Given the description of an element on the screen output the (x, y) to click on. 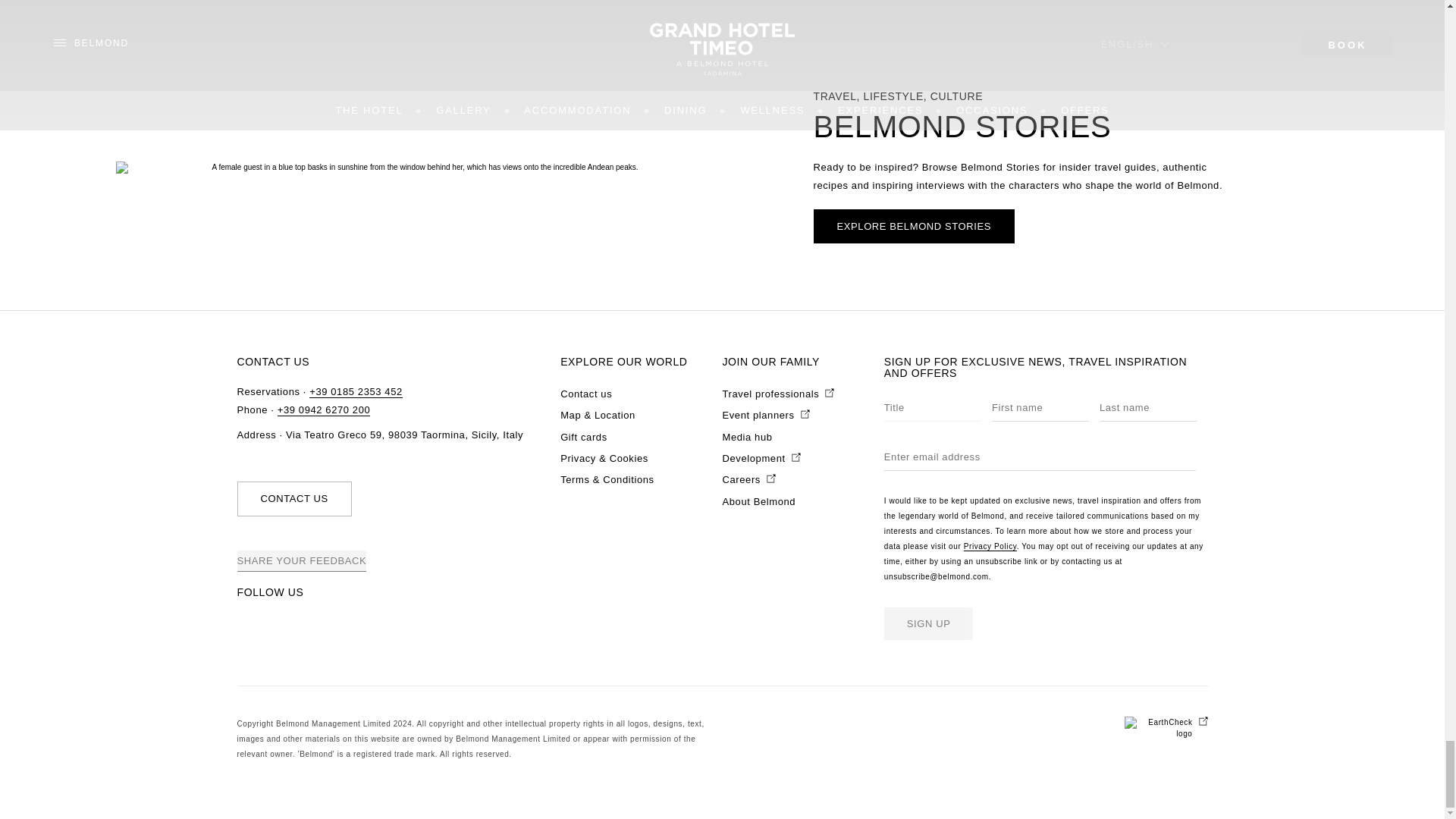
Opens in a new window (1165, 727)
Opens in a new window (748, 479)
Opens in a new window (765, 414)
Opens in a new window (778, 393)
Opens in a new window (760, 458)
